Given the description of an element on the screen output the (x, y) to click on. 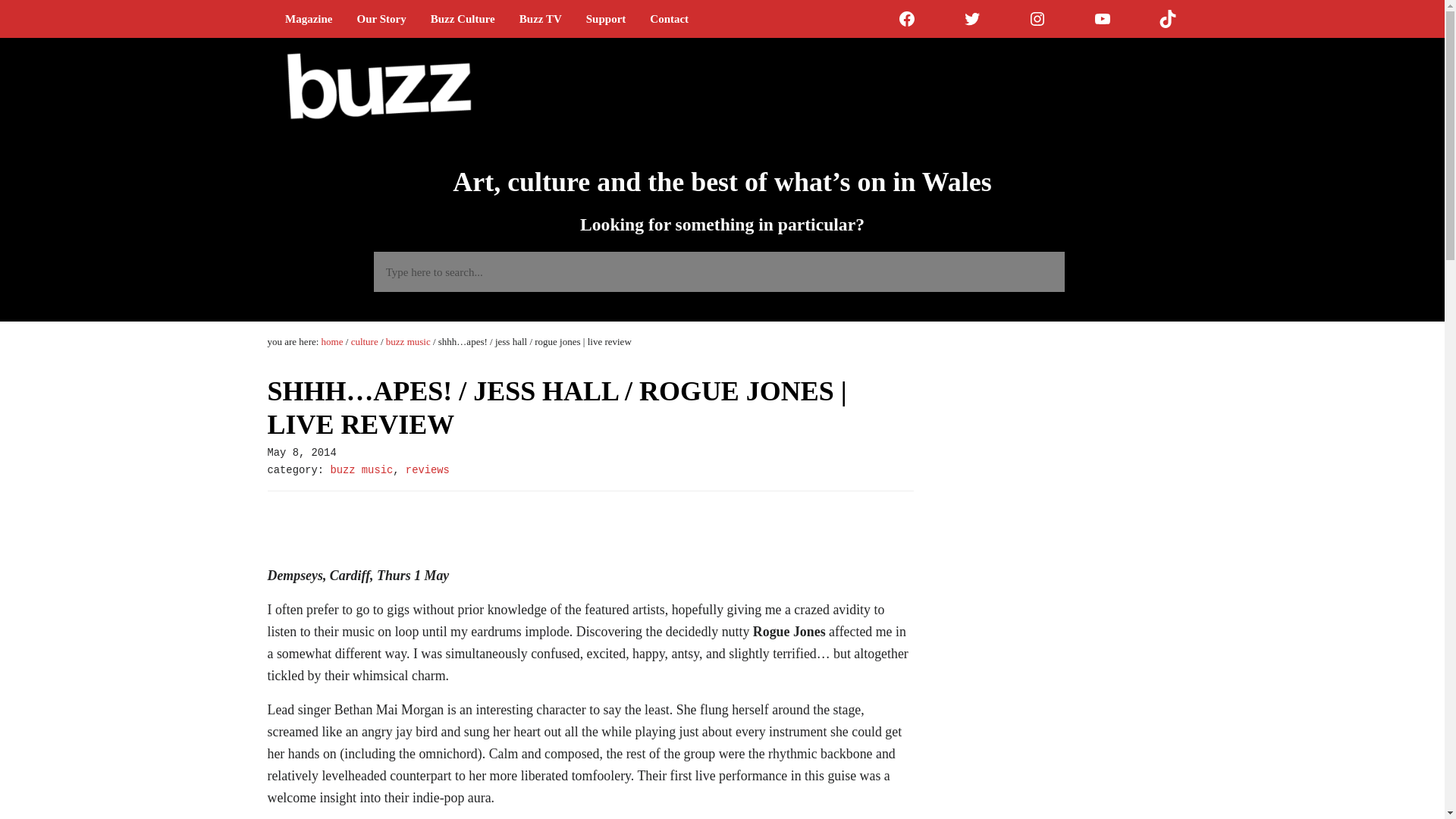
Buzz Twitter (971, 18)
Buzz TV (539, 18)
Buzz Culture (462, 18)
Support (606, 18)
Buzz Instagram (1036, 18)
Contact (668, 18)
Buzz Facebook (906, 18)
Buzz Youtube (1102, 18)
Buzz TikTok (1167, 18)
Magazine (308, 18)
Our Story (380, 18)
